Given the description of an element on the screen output the (x, y) to click on. 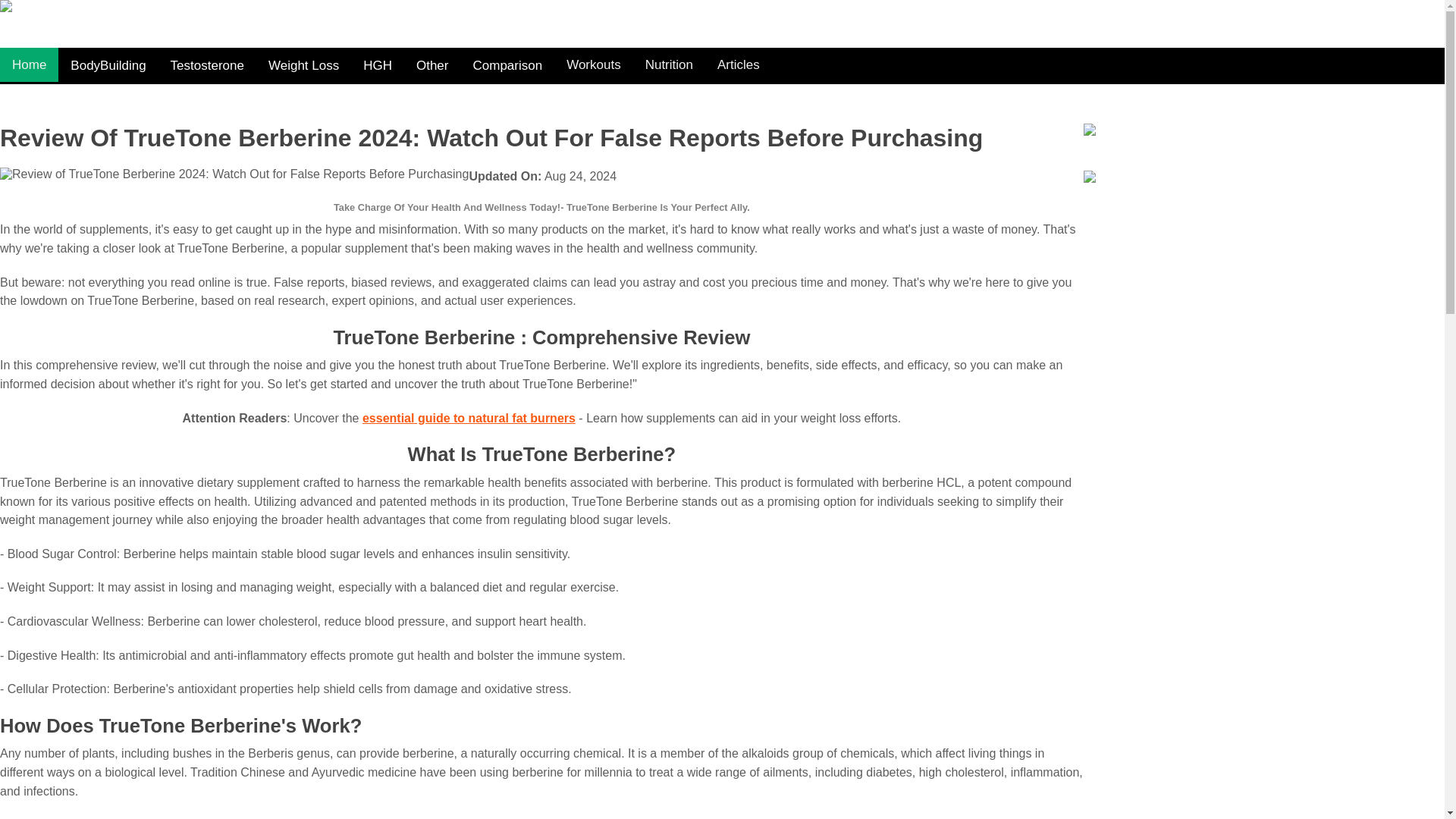
Testosterone (207, 65)
Weight Loss (303, 65)
Home (29, 64)
BodyBuilding (107, 65)
